Given the description of an element on the screen output the (x, y) to click on. 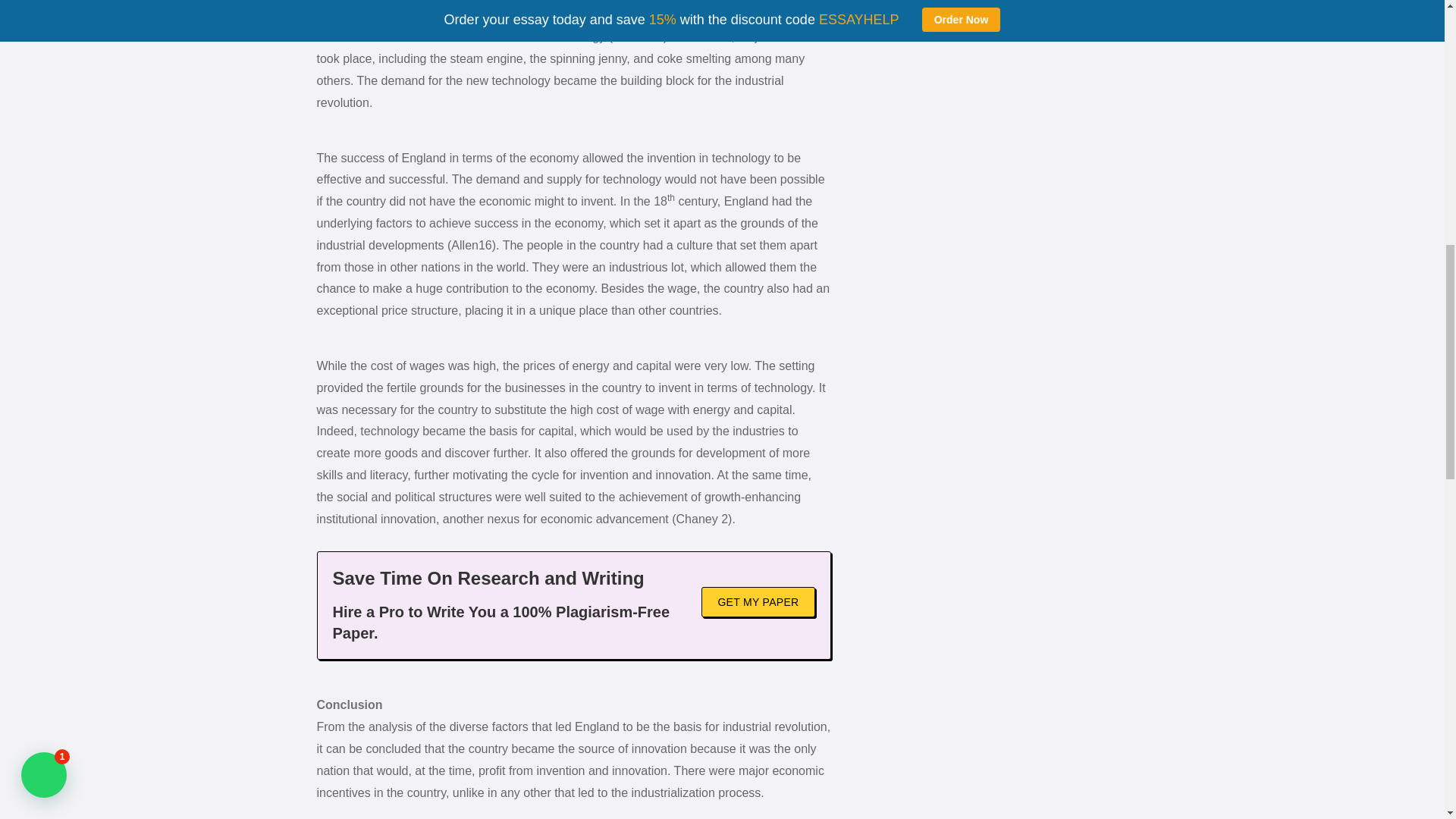
GET MY PAPER (757, 602)
